Given the description of an element on the screen output the (x, y) to click on. 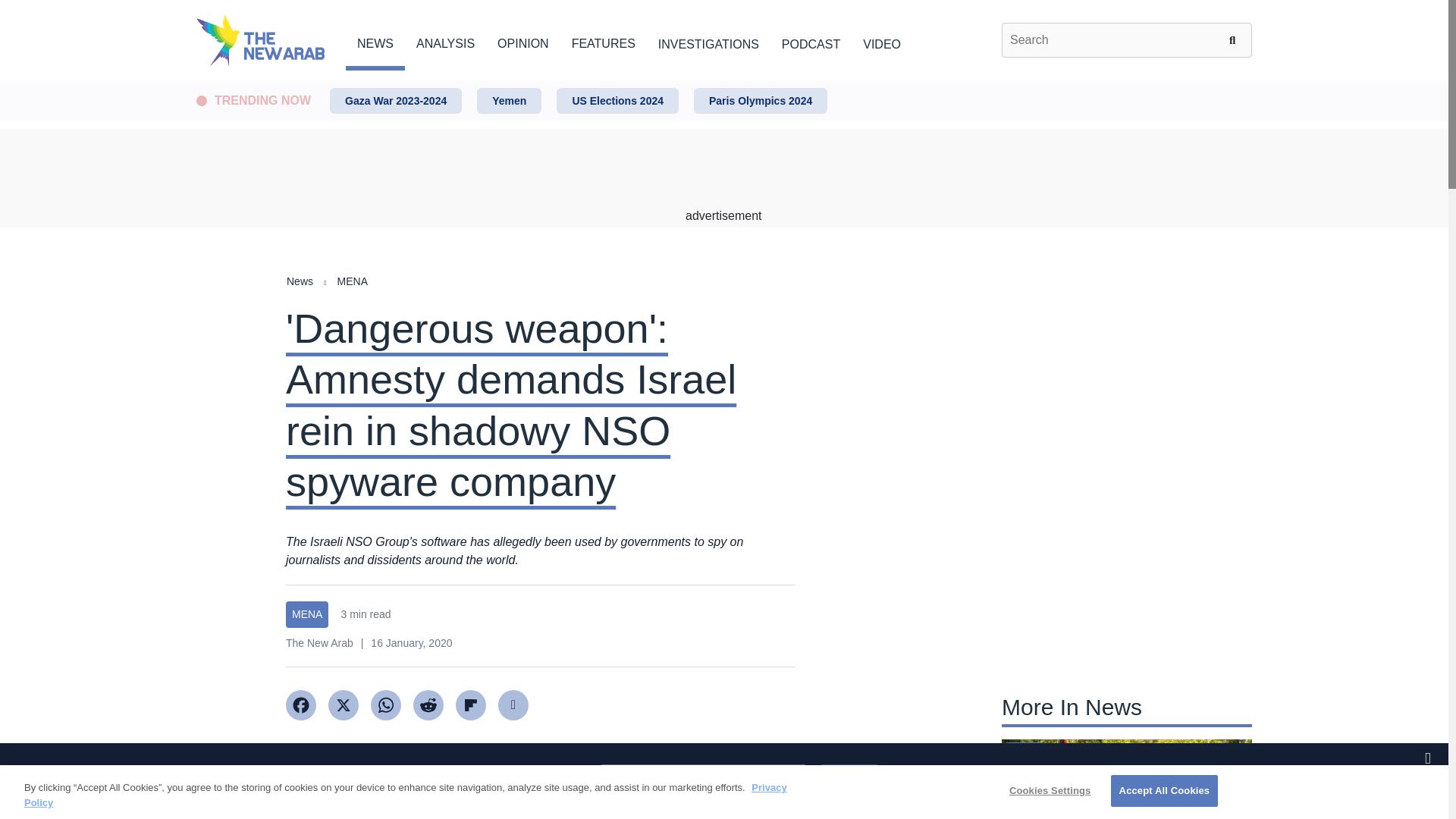
OPINION (523, 41)
NEWS (375, 41)
ANALYSIS (445, 41)
Search (1234, 39)
Skip to main content (724, 81)
